Given the description of an element on the screen output the (x, y) to click on. 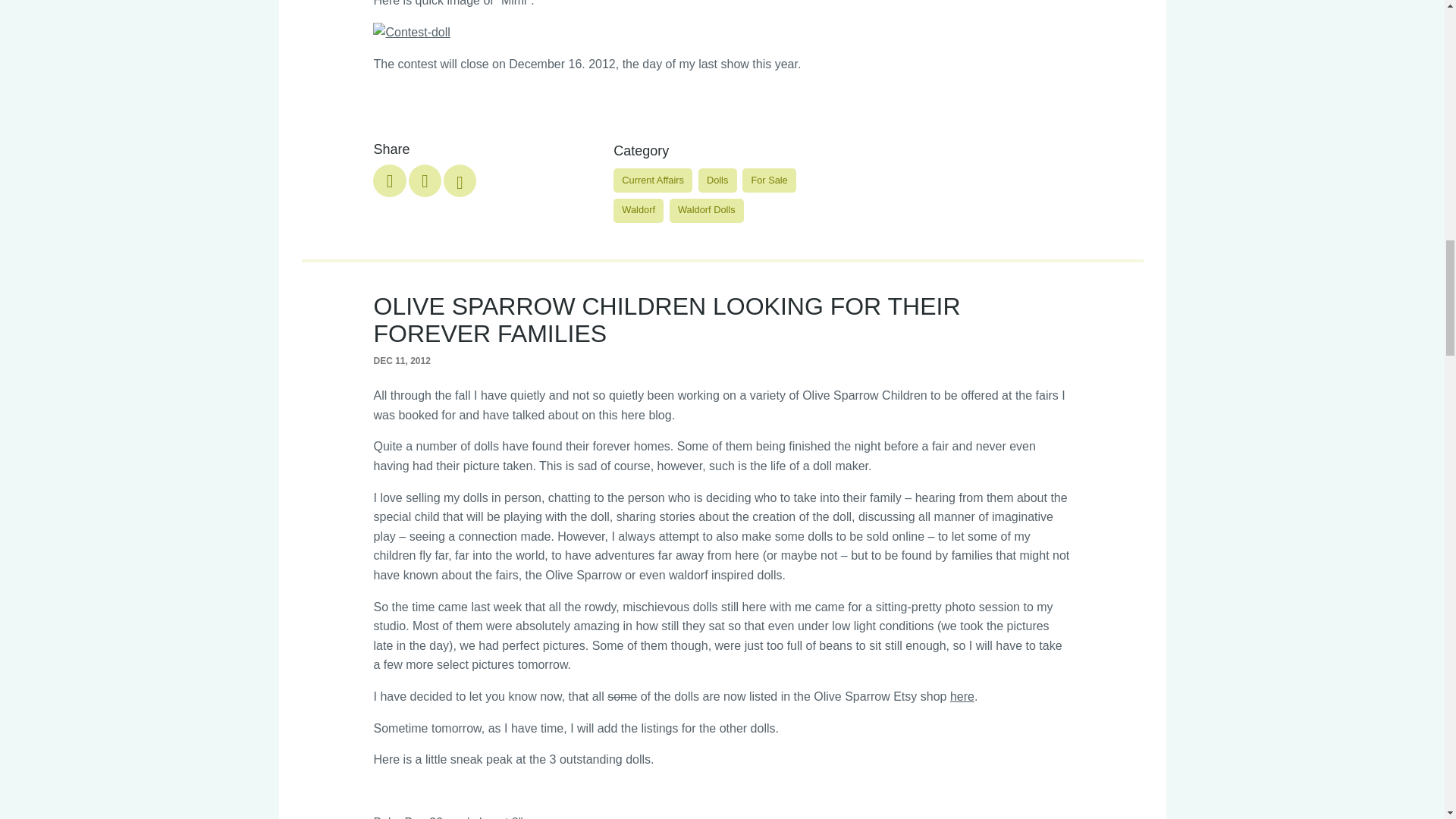
One-Day Studio Sale With Undine Jewellery (425, 180)
One-Day Studio Sale With Undine Jewellery (460, 180)
Contest-doll (410, 32)
